Given the description of an element on the screen output the (x, y) to click on. 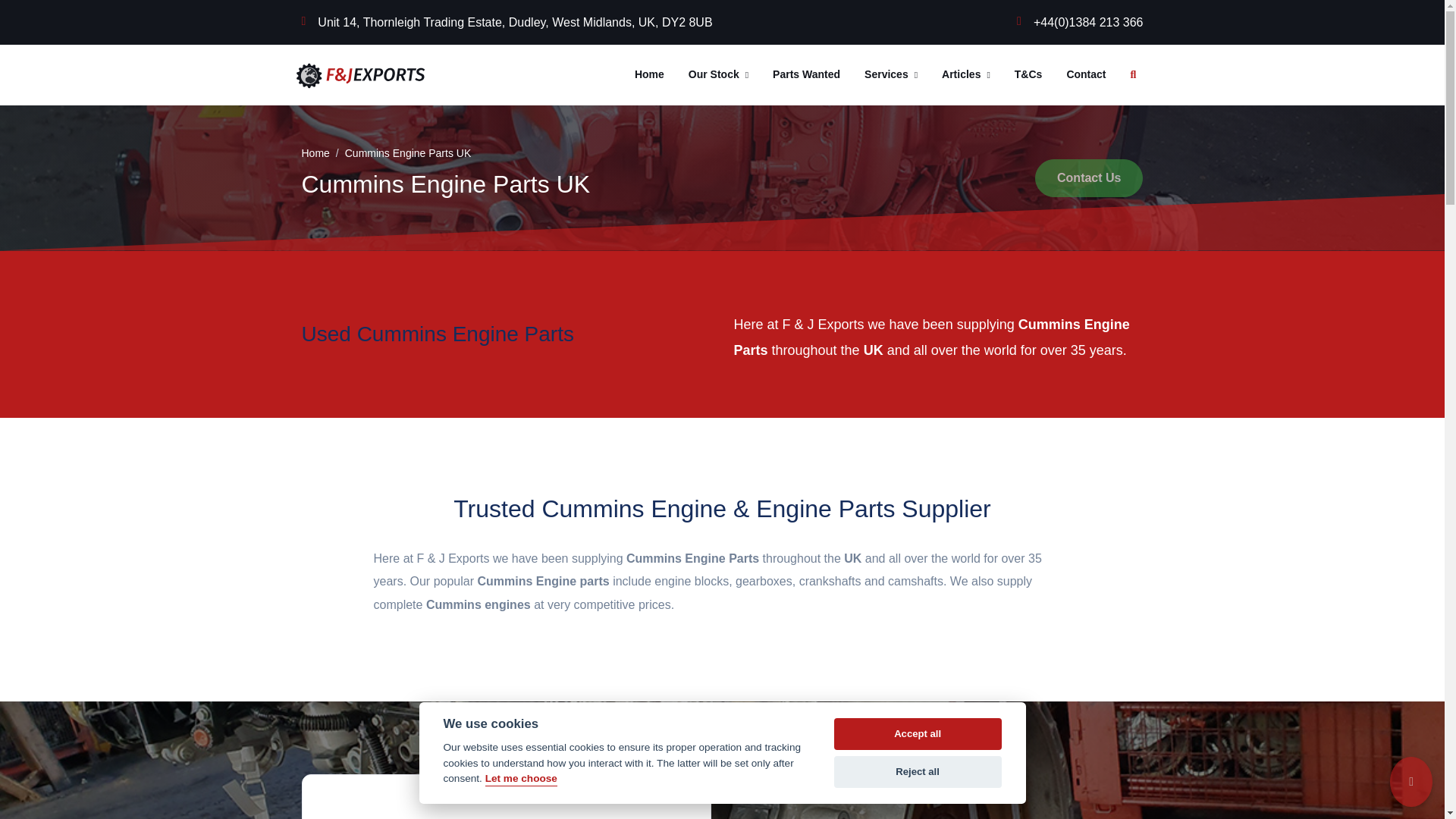
Browse our stock. (718, 75)
Get in touch. (1086, 75)
Articles (966, 75)
Contact (1086, 75)
Services (890, 75)
Home (650, 75)
Contact Us (1088, 177)
Home (315, 153)
Parts Wanted (805, 75)
Our Stock (718, 75)
